Given the description of an element on the screen output the (x, y) to click on. 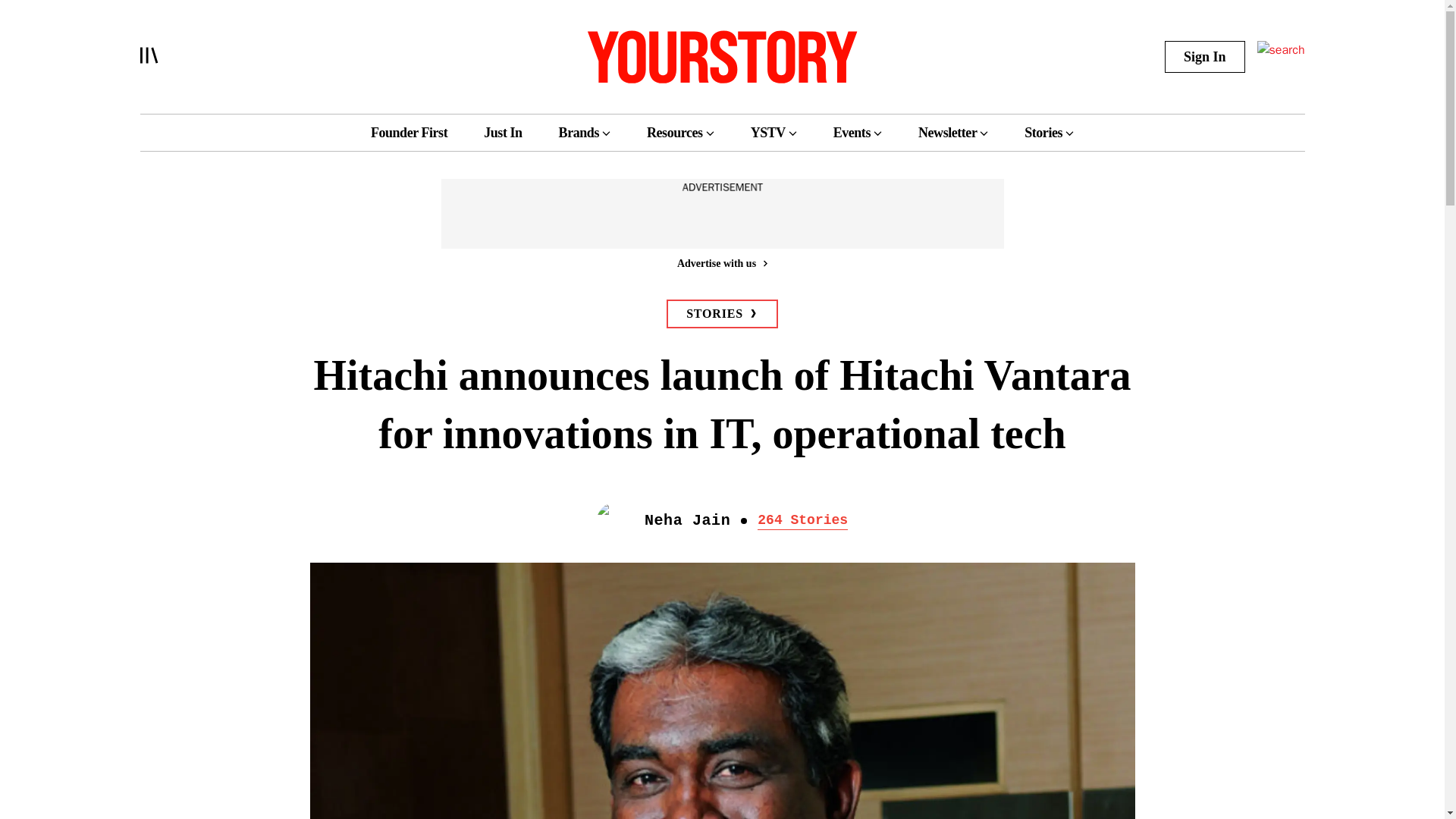
Advertise with us (721, 263)
STORIES (721, 313)
264 Stories (802, 520)
Just In (502, 132)
Neha Jain (687, 519)
Founder First (408, 132)
